Given the description of an element on the screen output the (x, y) to click on. 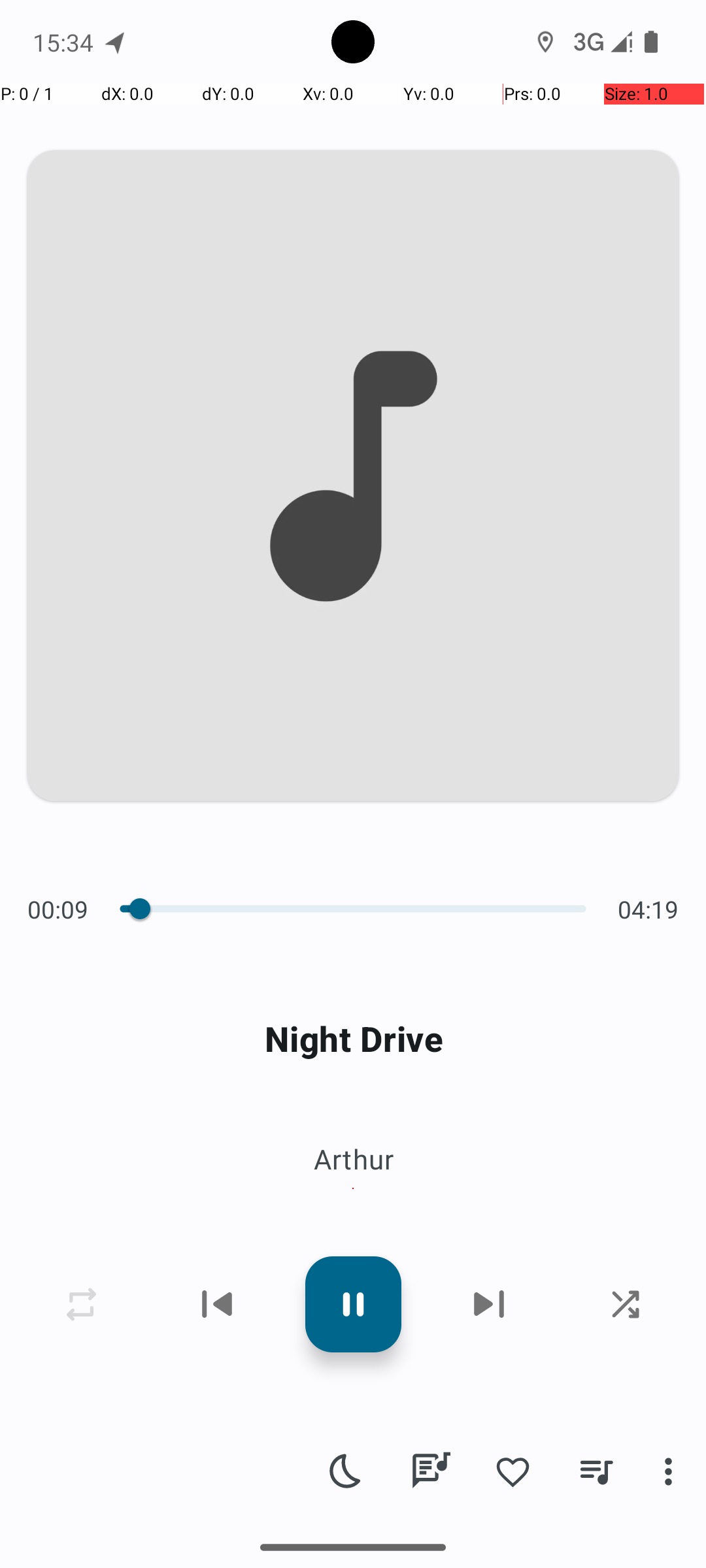
00:09 Element type: android.widget.TextView (61, 908)
04:19 Element type: android.widget.TextView (643, 908)
Night Drive Element type: android.widget.TextView (353, 1038)
Arthur Element type: android.widget.TextView (352, 1158)
Sleep timer Element type: android.widget.Button (346, 1471)
Lyrics Element type: android.widget.Button (429, 1471)
Add to favorites Element type: android.widget.Button (512, 1471)
Now playing queue Element type: android.widget.Button (595, 1471)
1 Album • 1 Song • 04:19 Element type: android.widget.TextView (352, 1004)
Play all Element type: android.widget.Button (186, 1096)
Album Element type: android.widget.TextView (353, 1188)
Value, 11003 Element type: android.widget.SeekBar (142, 908)
Music Element type: android.widget.TextView (168, 1544)
